Given the description of an element on the screen output the (x, y) to click on. 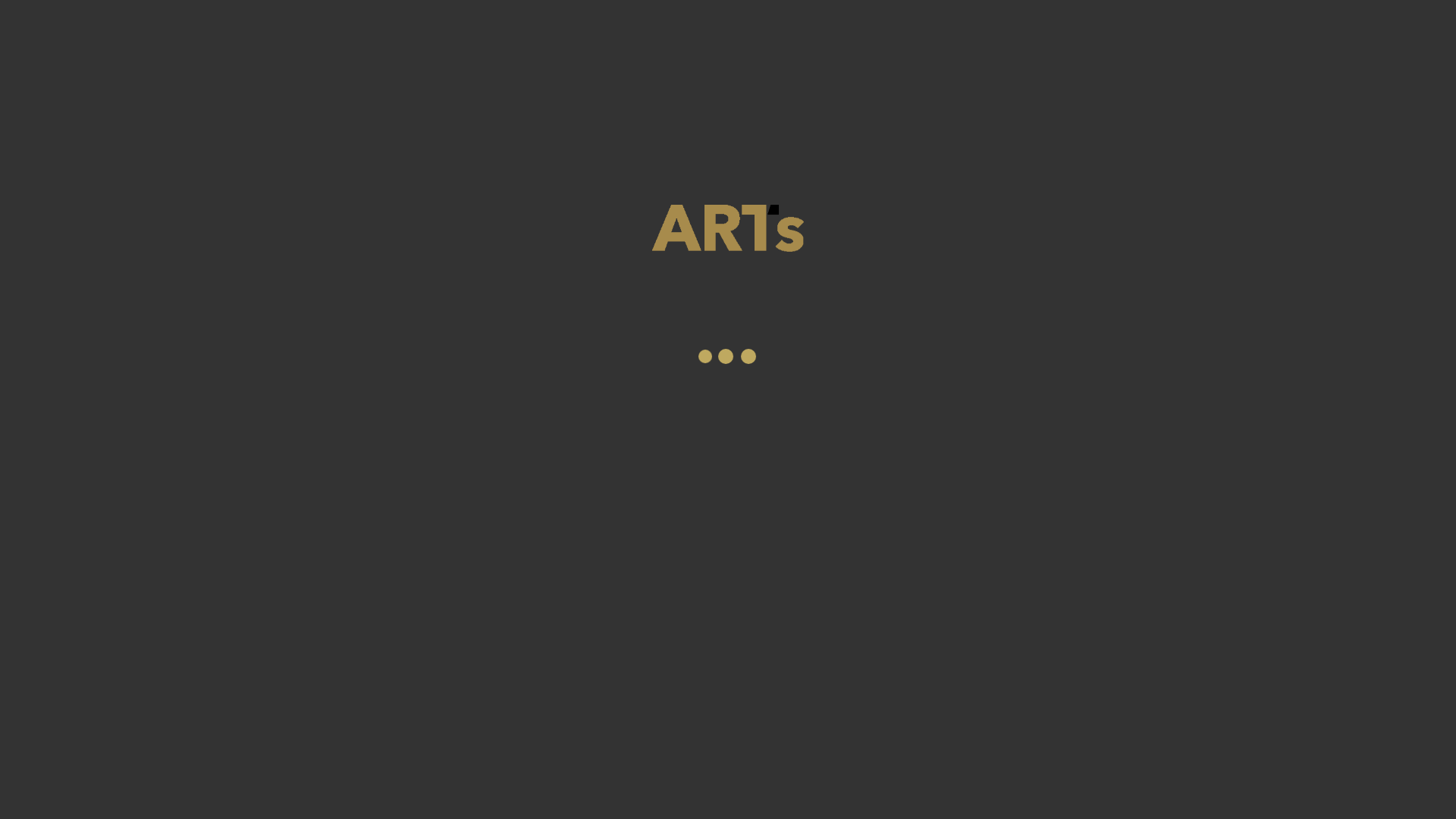
Tel. 071 911 40 11 Element type: text (657, 787)
Angebote Element type: text (640, 36)
Reservation Element type: text (459, 36)
Newsletter abonnieren Element type: text (1079, 787)
ZUR STARTSEITE Element type: text (727, 308)
Restaurant & Bar Element type: text (849, 36)
info@arts-wil.ch Element type: text (859, 787)
Whisky-Treff & Events Element type: text (1119, 36)
